Given the description of an element on the screen output the (x, y) to click on. 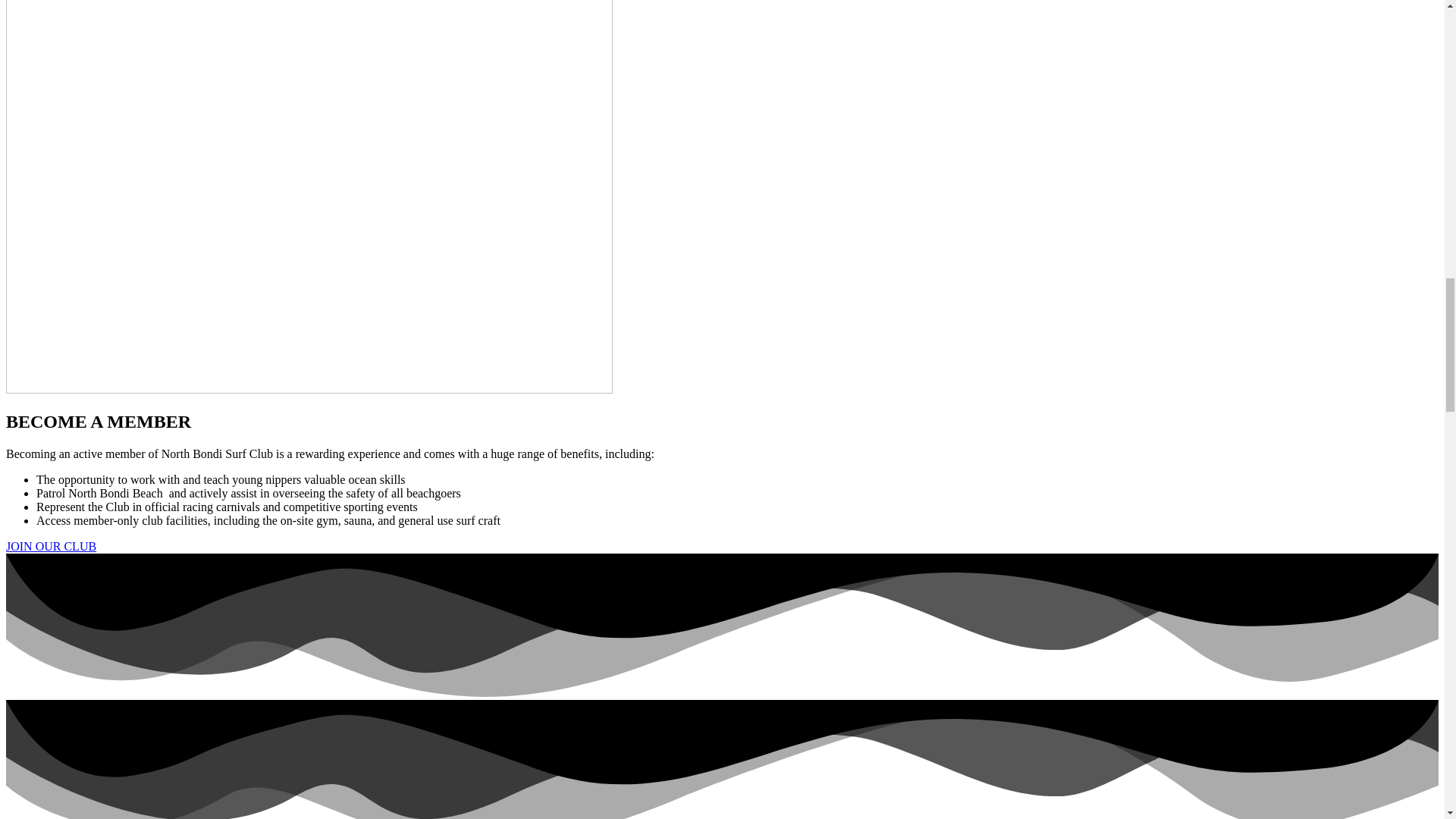
JOIN OUR CLUB (50, 545)
